Given the description of an element on the screen output the (x, y) to click on. 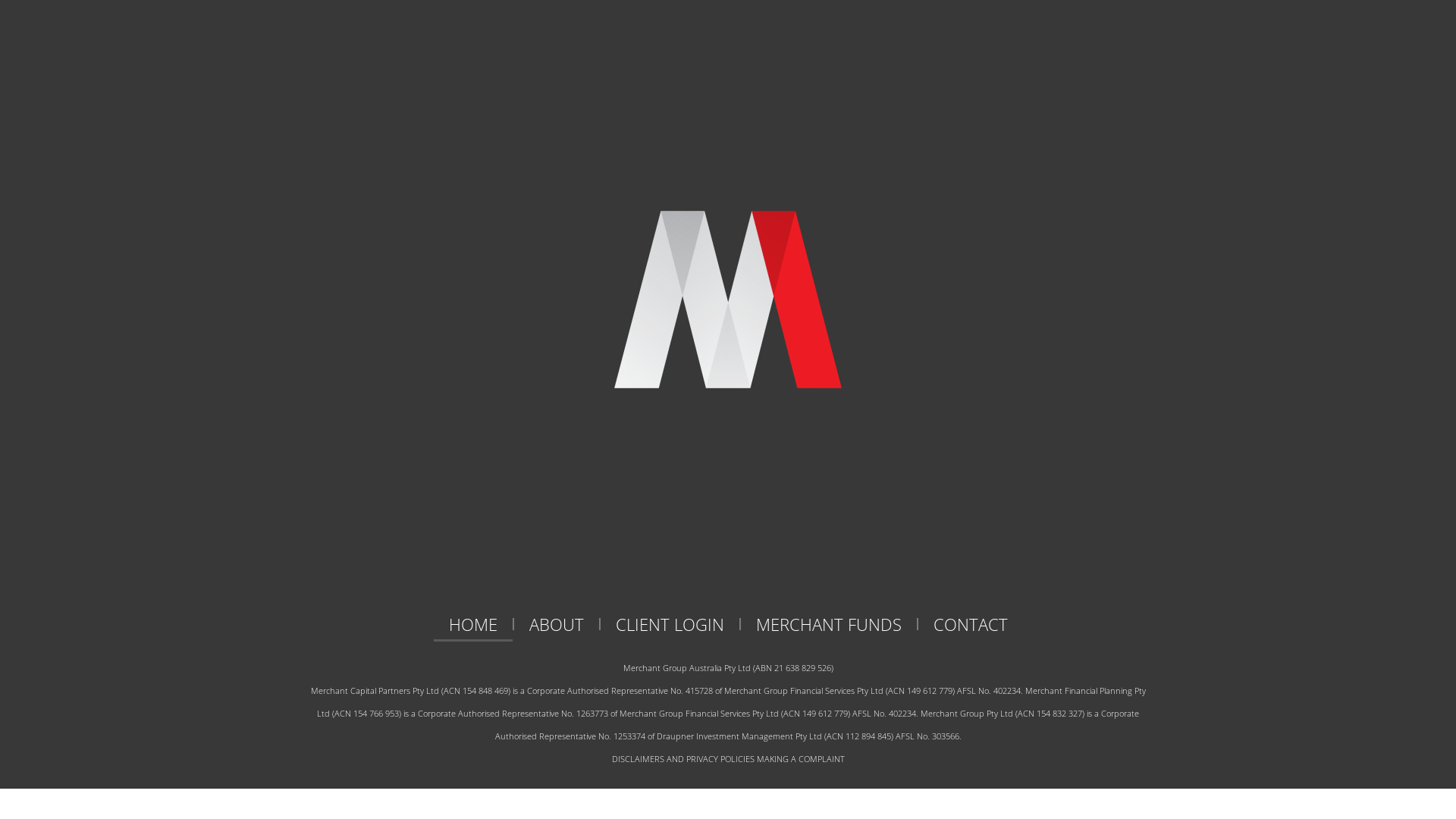
HOME Element type: text (472, 623)
CONTACT Element type: text (969, 623)
MAKING A COMPLAINT Element type: text (800, 758)
CLIENT LOGIN Element type: text (669, 623)
DISCLAIMERS AND PRIVACY POLICIES Element type: text (682, 758)
ABOUT Element type: text (556, 623)
MERCHANT FUNDS Element type: text (828, 623)
